Given the description of an element on the screen output the (x, y) to click on. 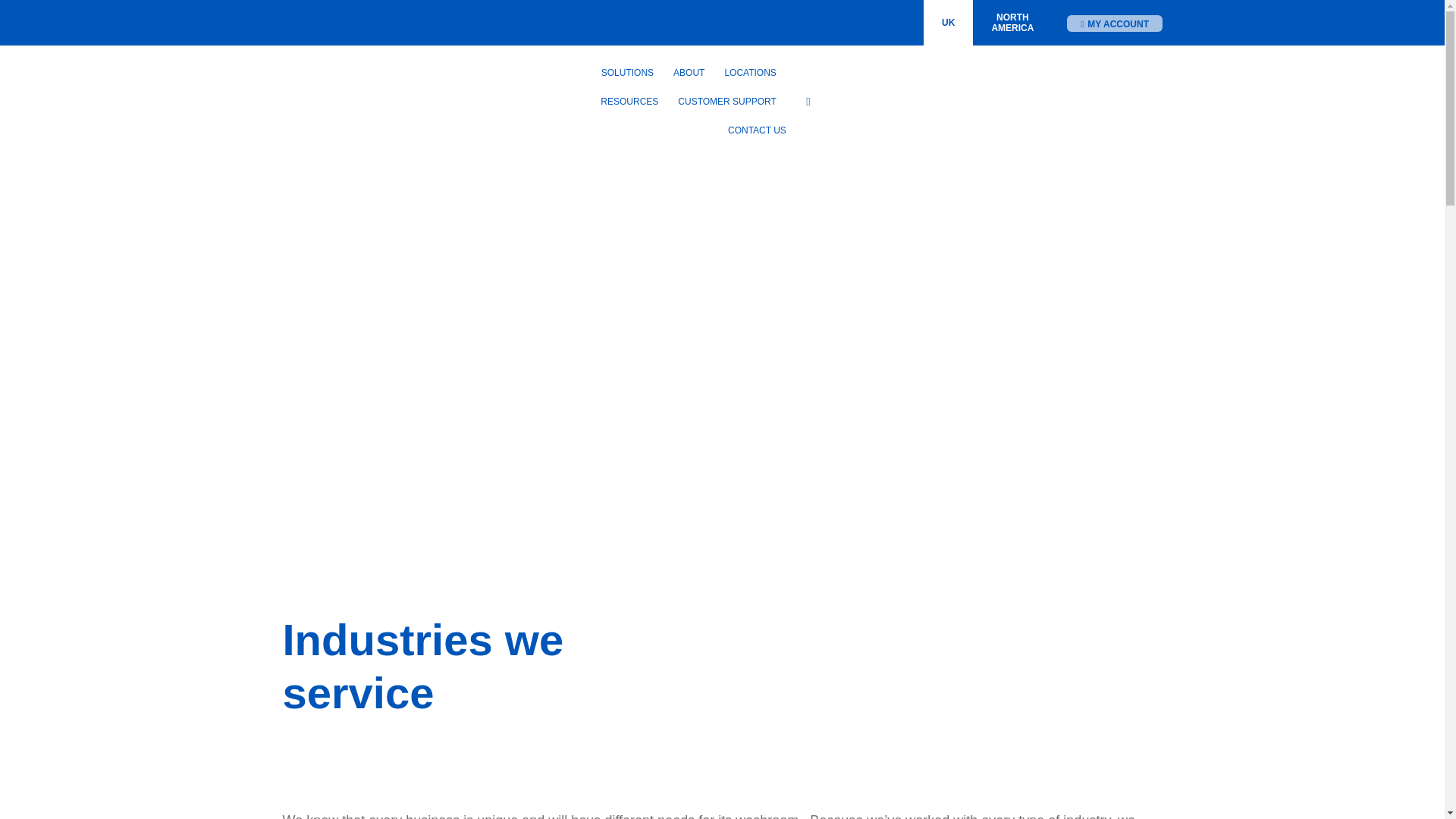
LOCATIONS (750, 72)
UK (947, 22)
SOLUTIONS (627, 72)
RESOURCES (629, 101)
MY ACCOUNT (1114, 23)
ABOUT (1011, 22)
